Given the description of an element on the screen output the (x, y) to click on. 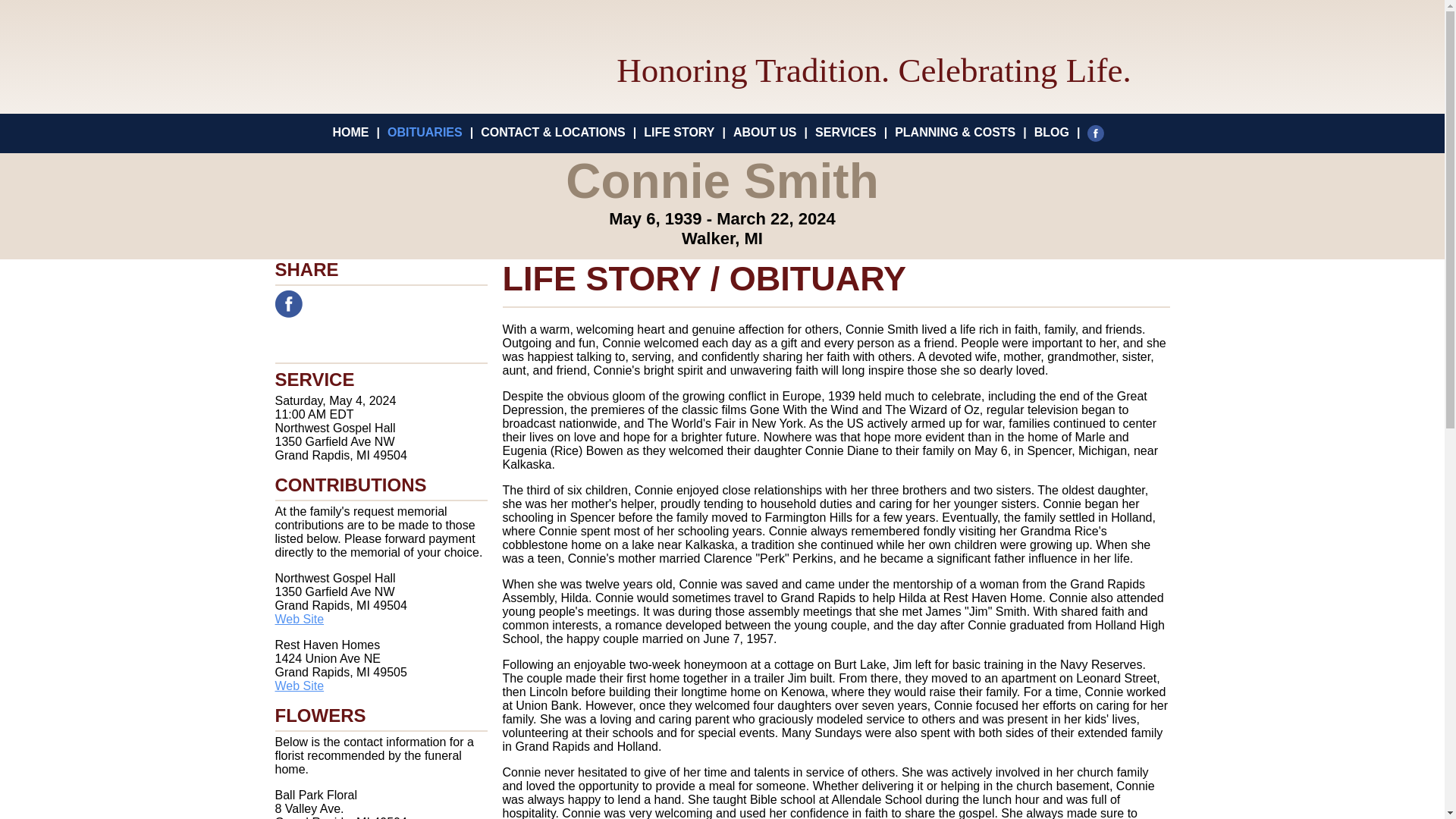
OBITUARIES (425, 132)
Twitter (322, 303)
SERVICES (845, 132)
Web Site (299, 685)
Facebook (1099, 132)
Facebook (288, 303)
Email (357, 303)
BLOG (1050, 132)
Web Site (299, 618)
ABOUT US (764, 132)
